Given the description of an element on the screen output the (x, y) to click on. 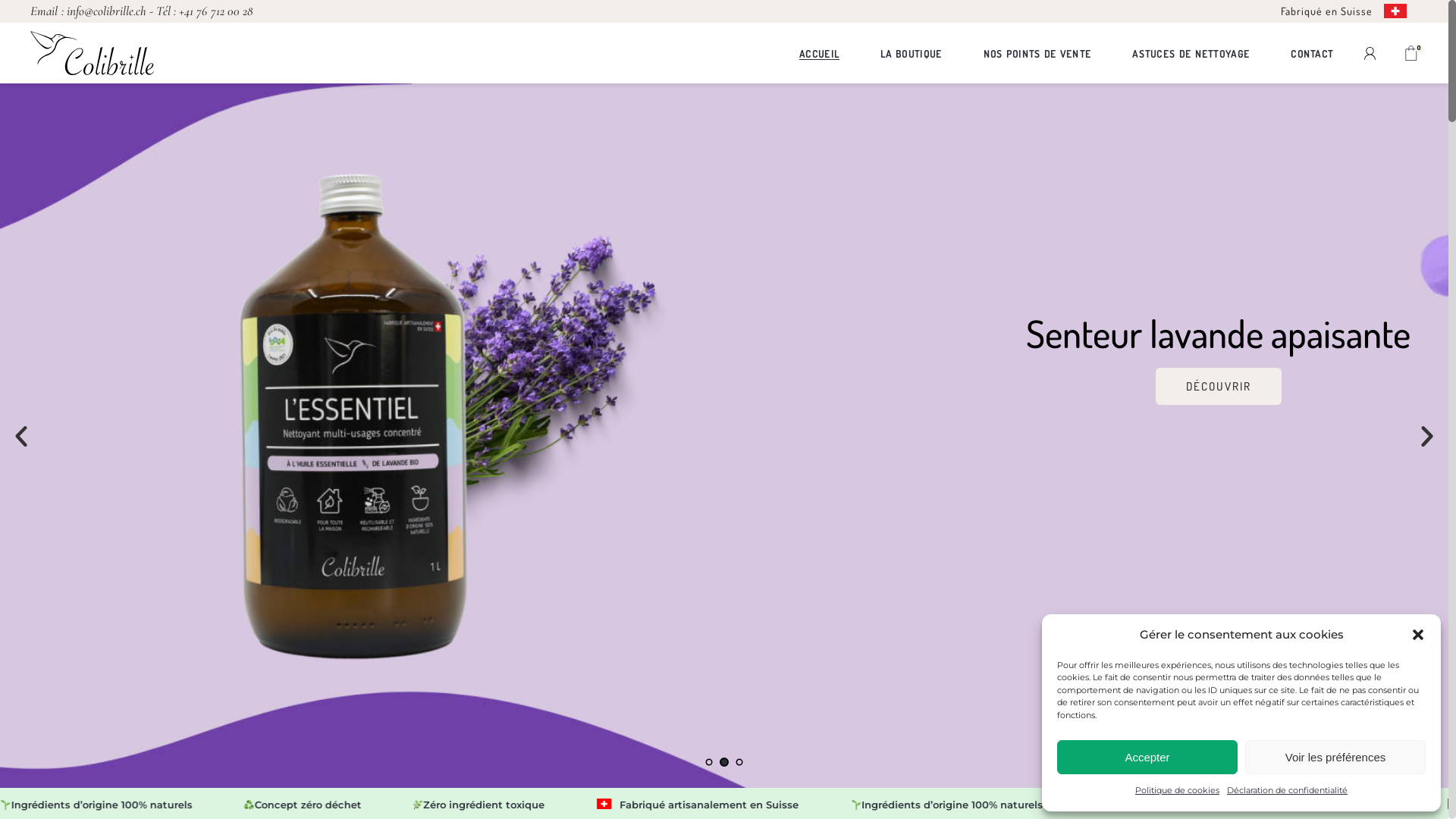
NOS POINTS DE VENTE Element type: text (1036, 52)
CONTACT Element type: text (1311, 52)
+41 76 712 00 28 Element type: text (215, 10)
ASTUCES DE NETTOYAGE Element type: text (1190, 52)
ACCUEIL Element type: text (819, 52)
Politique de cookies Element type: text (1177, 790)
info@colibrille.ch Element type: text (106, 10)
Accepter Element type: text (1147, 757)
LA BOUTIQUE Element type: text (910, 52)
0 Element type: text (1411, 52)
